Given the description of an element on the screen output the (x, y) to click on. 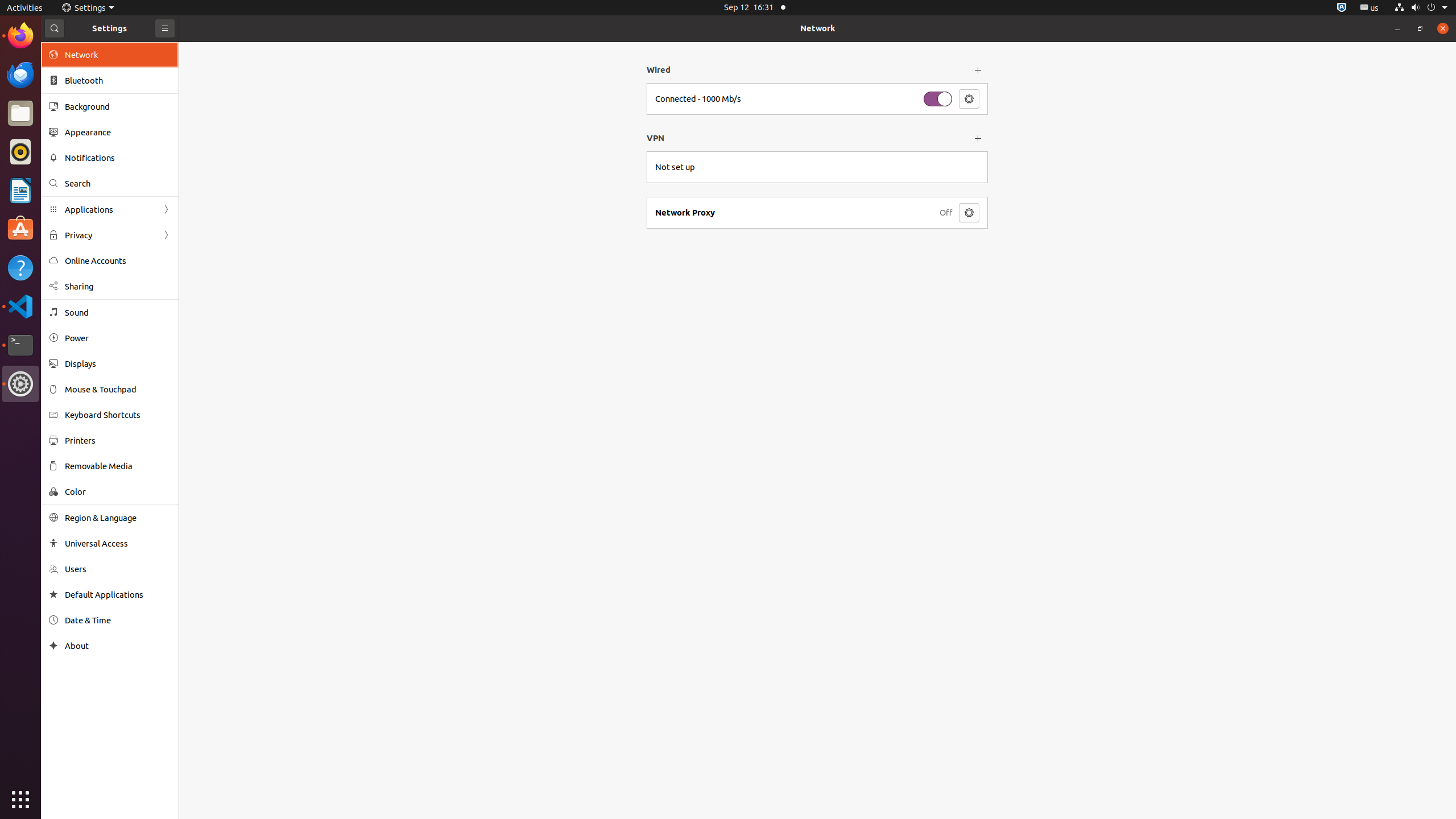
Connected - 1000 Mb/s Element type: label (698, 98)
Trash Element type: label (75, 108)
